Given the description of an element on the screen output the (x, y) to click on. 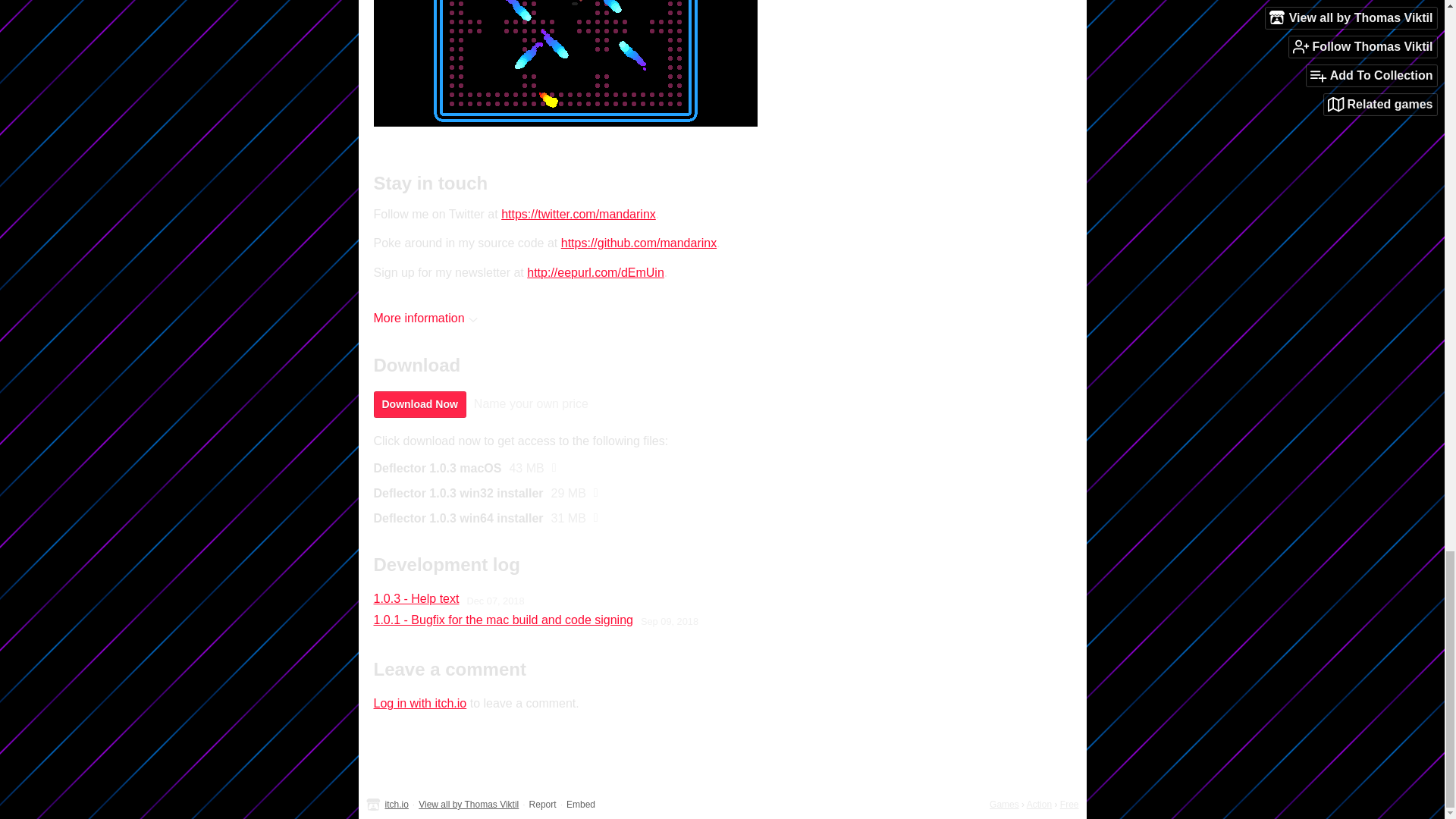
1.0.3 - Help text (415, 598)
Download Now (418, 404)
1.0.1 - Bugfix for the mac build and code signing (501, 619)
Log in with itch.io (418, 703)
More information (424, 318)
Deflector 1.0.3 win64 installer (457, 518)
Deflector 1.0.3 macOS (436, 468)
Deflector 1.0.3 win32 installer (457, 493)
